Given the description of an element on the screen output the (x, y) to click on. 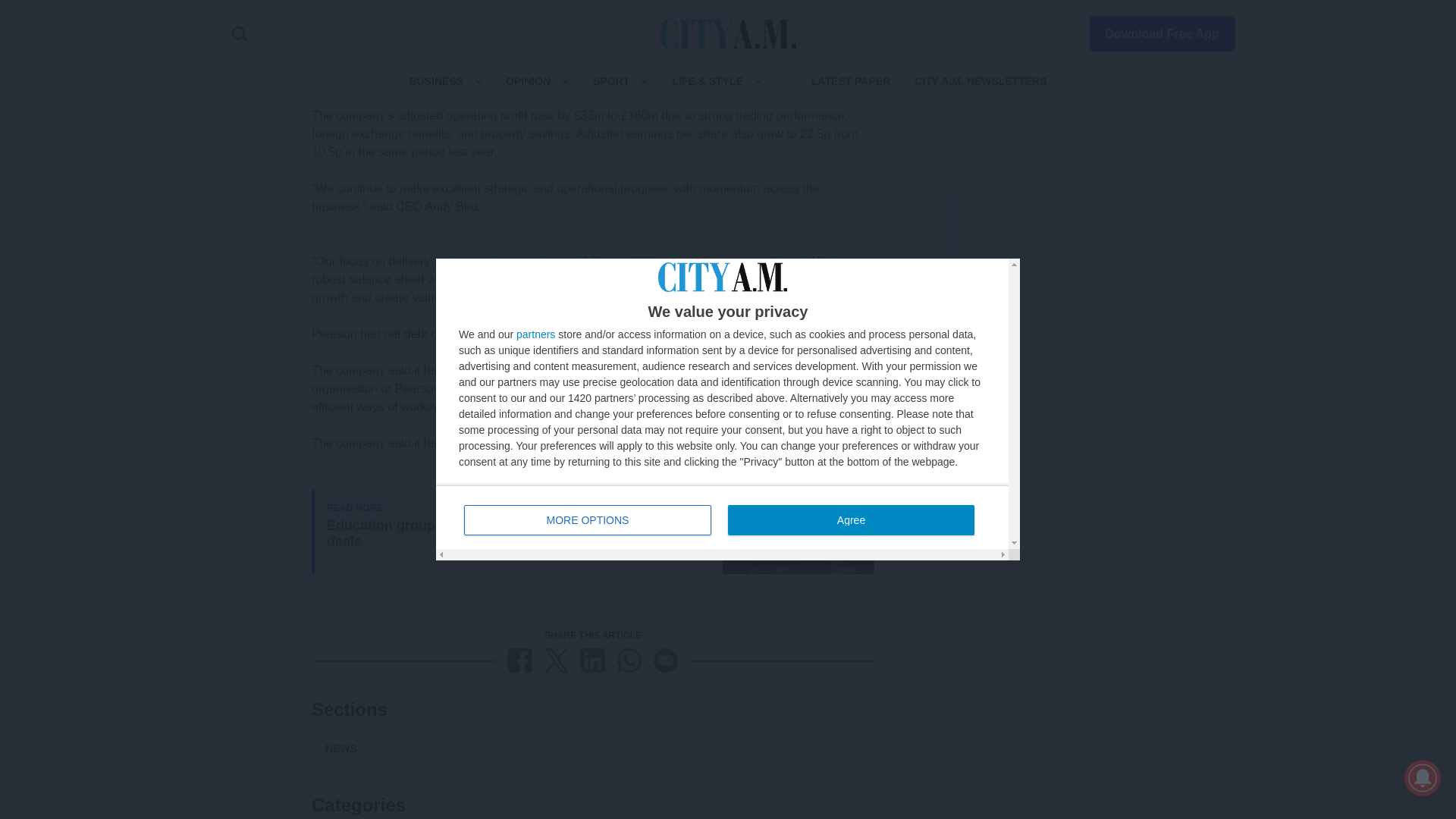
X (556, 660)
WhatsApp (629, 660)
LinkedIn (592, 660)
Facebook (520, 660)
Email (665, 660)
